Given the description of an element on the screen output the (x, y) to click on. 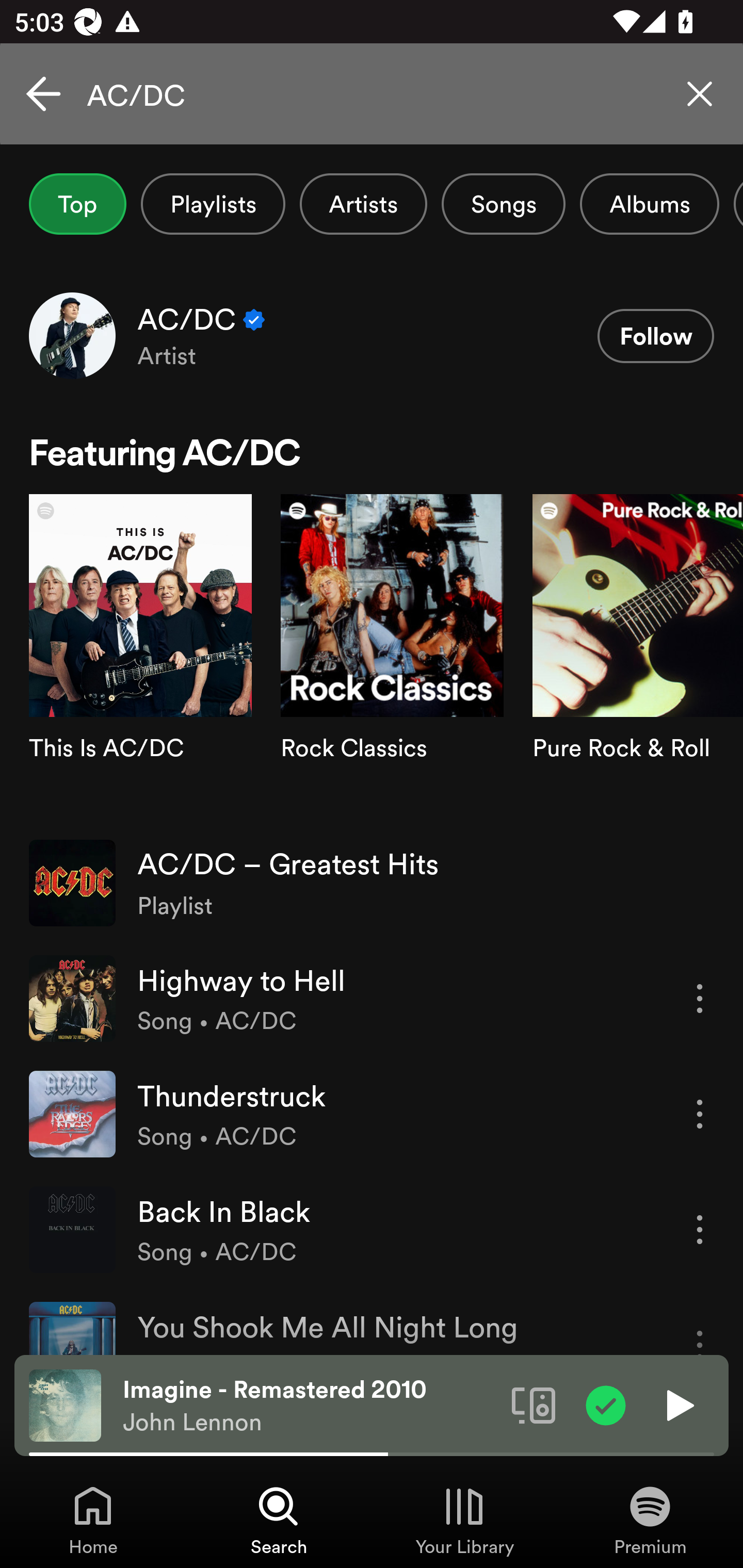
AC/DC (371, 93)
Cancel (43, 93)
Clear search query (699, 93)
Top (77, 203)
Playlists (213, 203)
Artists (363, 203)
Songs (503, 203)
Albums (649, 203)
AC/DC Verified Artist Follow Follow (371, 335)
Follow (655, 335)
Search card image This Is AC/DC (139, 658)
Search card image Rock Classics (391, 658)
Search card image Pure Rock & Roll (637, 658)
AC/DC – Greatest Hits Playlist (371, 882)
More options for song Highway to Hell (699, 997)
More options for song Thunderstruck (699, 1113)
More options for song Back In Black (699, 1229)
More options for song You Shook Me All Night Long (699, 1327)
Imagine - Remastered 2010 John Lennon (309, 1405)
The cover art of the currently playing track (64, 1404)
Connect to a device. Opens the devices menu (533, 1404)
Item added (605, 1404)
Play (677, 1404)
Home, Tab 1 of 4 Home Home (92, 1519)
Search, Tab 2 of 4 Search Search (278, 1519)
Your Library, Tab 3 of 4 Your Library Your Library (464, 1519)
Premium, Tab 4 of 4 Premium Premium (650, 1519)
